Given the description of an element on the screen output the (x, y) to click on. 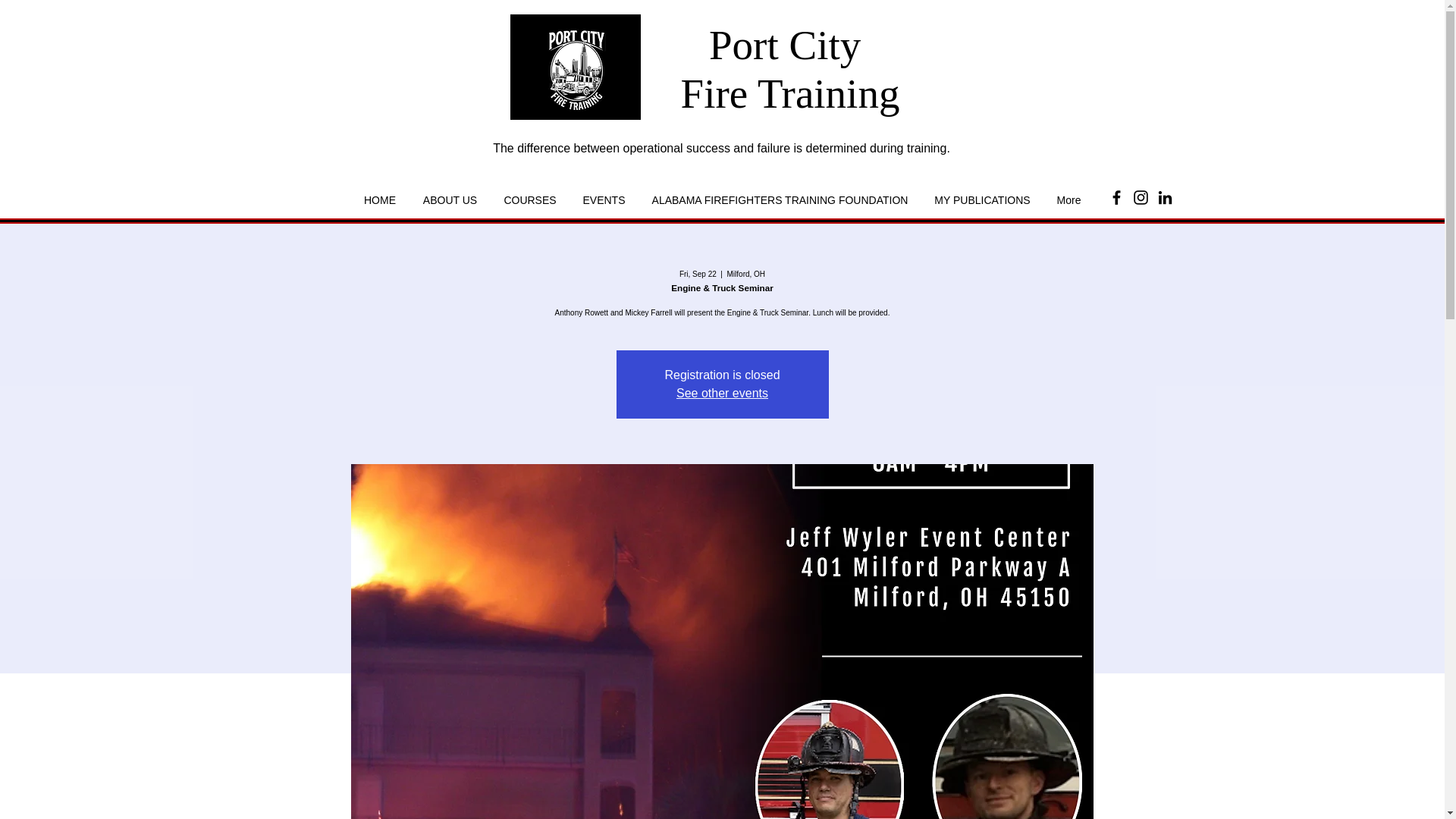
COURSES (529, 199)
HOME (379, 199)
See other events (722, 392)
ABOUT US (449, 199)
EVENTS (603, 199)
ALABAMA FIREFIGHTERS TRAINING FOUNDATION (780, 199)
MY PUBLICATIONS (981, 199)
